Given the description of an element on the screen output the (x, y) to click on. 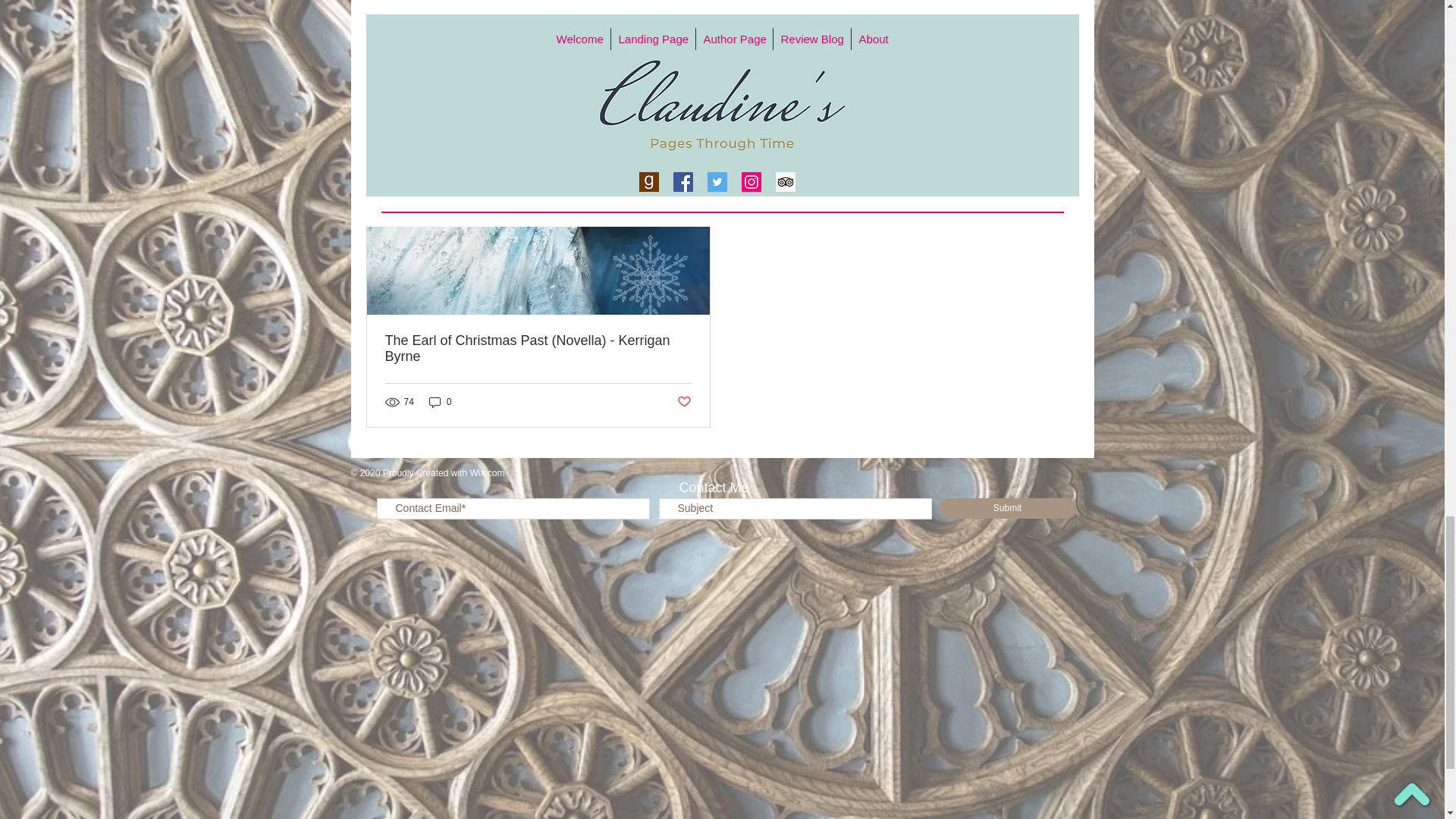
Wix.com (485, 472)
Post not marked as liked (683, 401)
0 (440, 401)
See All (837, 95)
Submit (1007, 507)
Post not marked as liked (820, 33)
